Given the description of an element on the screen output the (x, y) to click on. 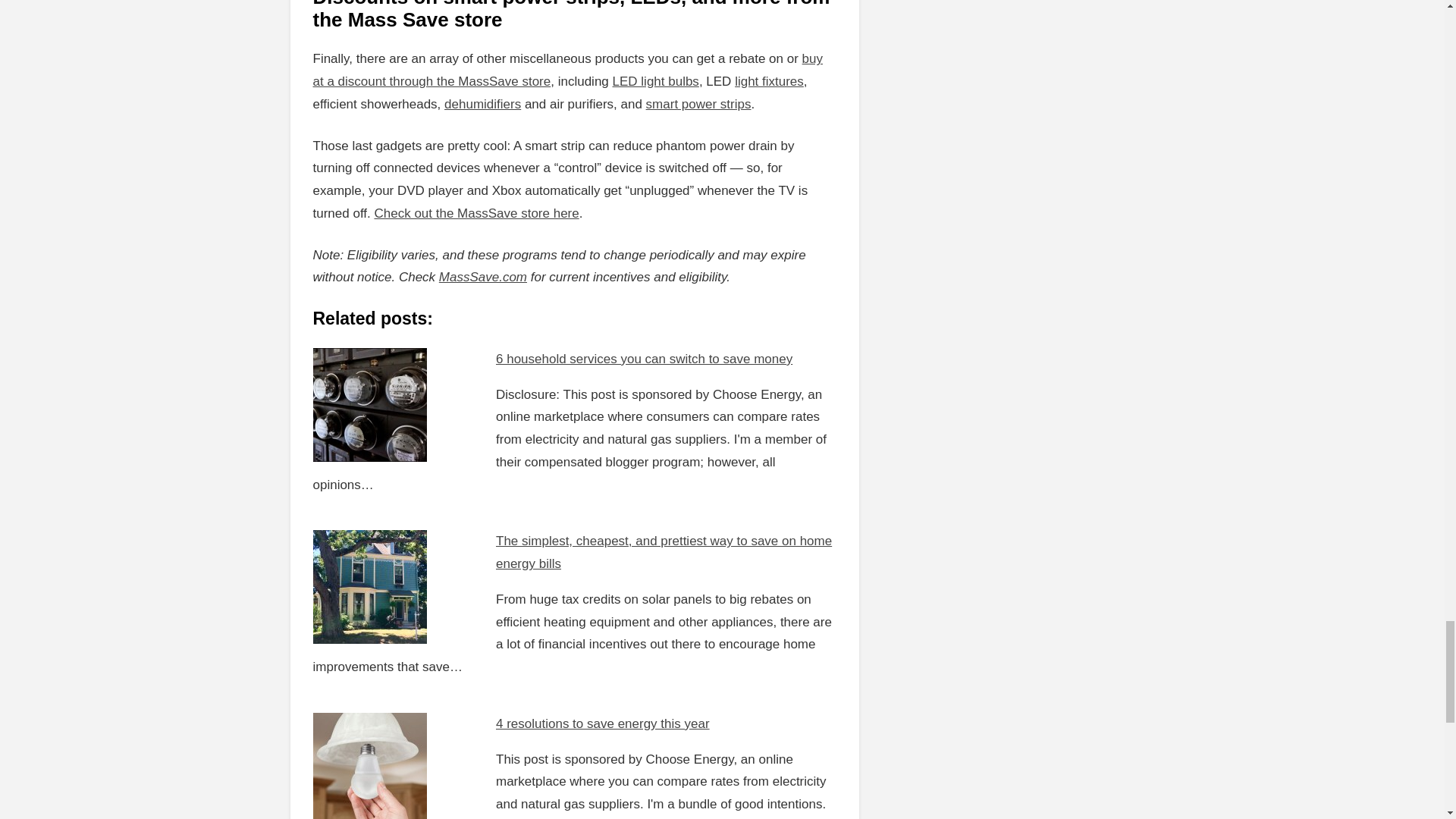
LED light bulbs (655, 81)
dehumidifiers (482, 104)
light fixtures (769, 81)
buy at a discount through the MassSave store (567, 69)
